Given the description of an element on the screen output the (x, y) to click on. 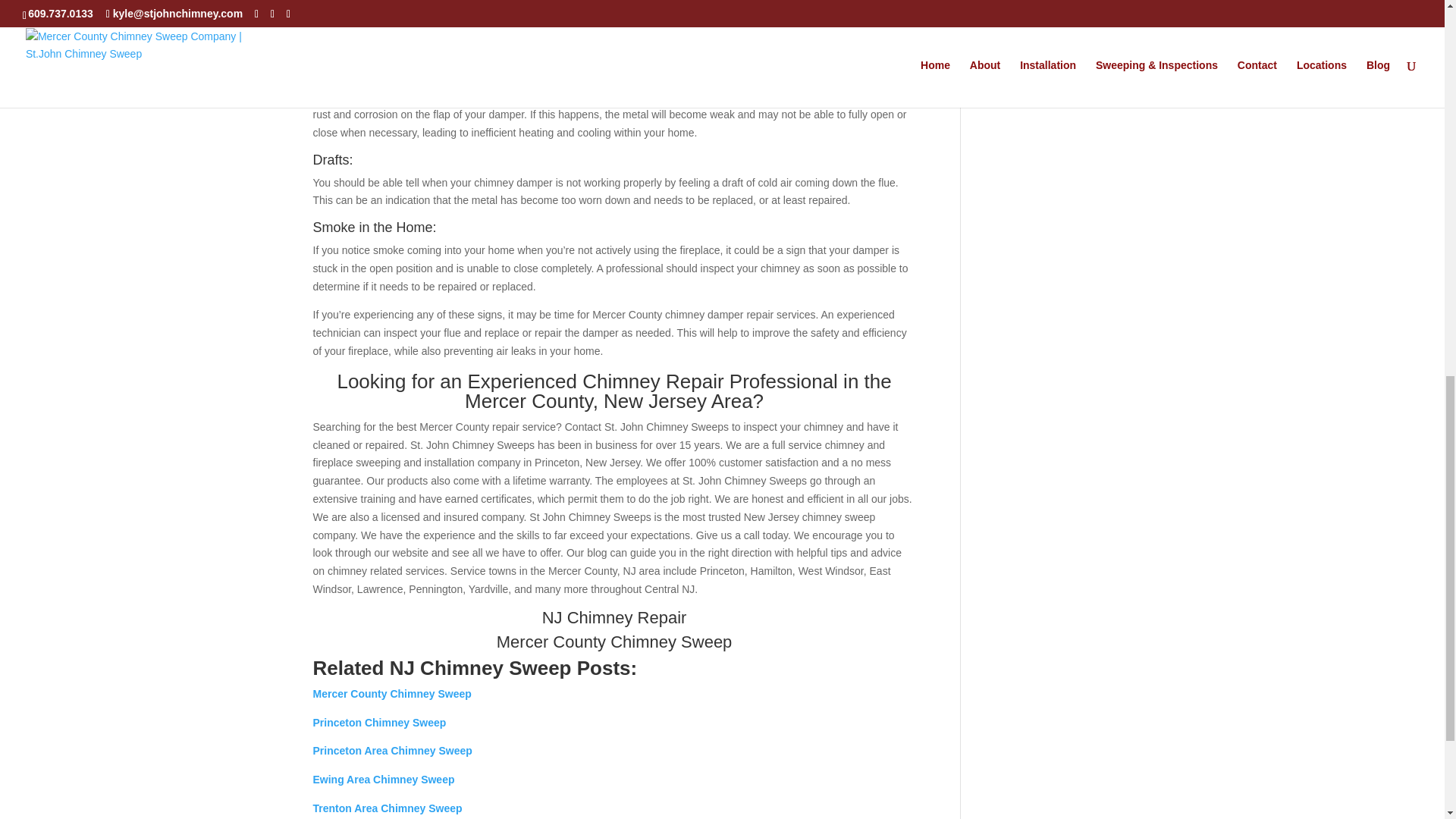
NJ Chimney Repair (614, 617)
Ewing Area Chimney Sweep (383, 779)
Mercer County Chimney Sweep (391, 693)
Trenton Area Chimney Sweep (387, 808)
Princeton Area Chimney Sweep (392, 750)
Mercer County Chimney Sweep (614, 641)
Princeton Chimney Sweep (379, 722)
